Given the description of an element on the screen output the (x, y) to click on. 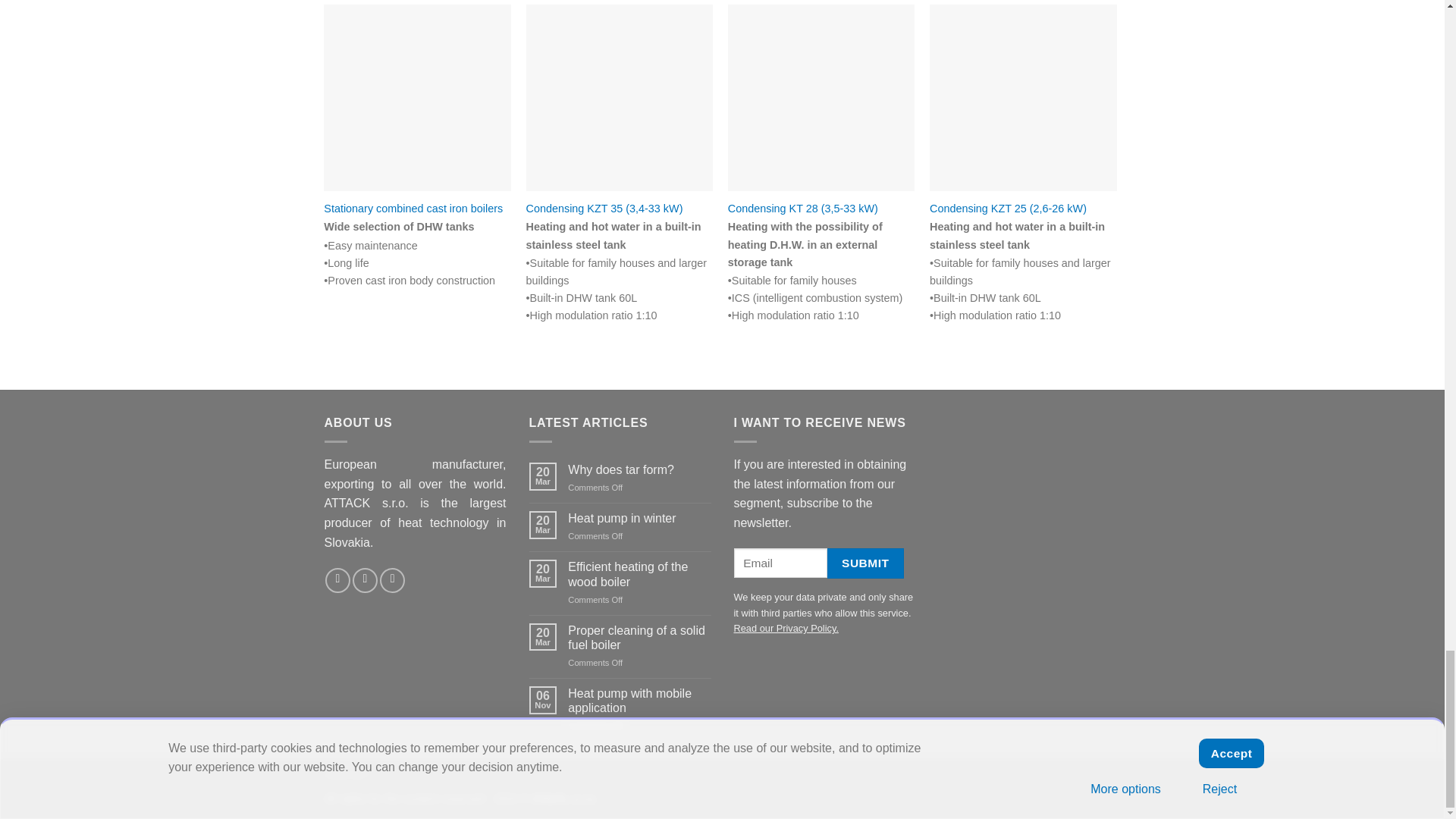
Heat pump in winter (638, 518)
Proper cleaning of a solid fuel boiler (638, 637)
Follow on YouTube (392, 580)
Follow on Instagram (364, 580)
Why does tar form? (638, 469)
Heat pump with mobile application (638, 700)
Follow on Facebook (337, 580)
Submit (864, 562)
Efficient heating of the wood boiler (638, 573)
